Given the description of an element on the screen output the (x, y) to click on. 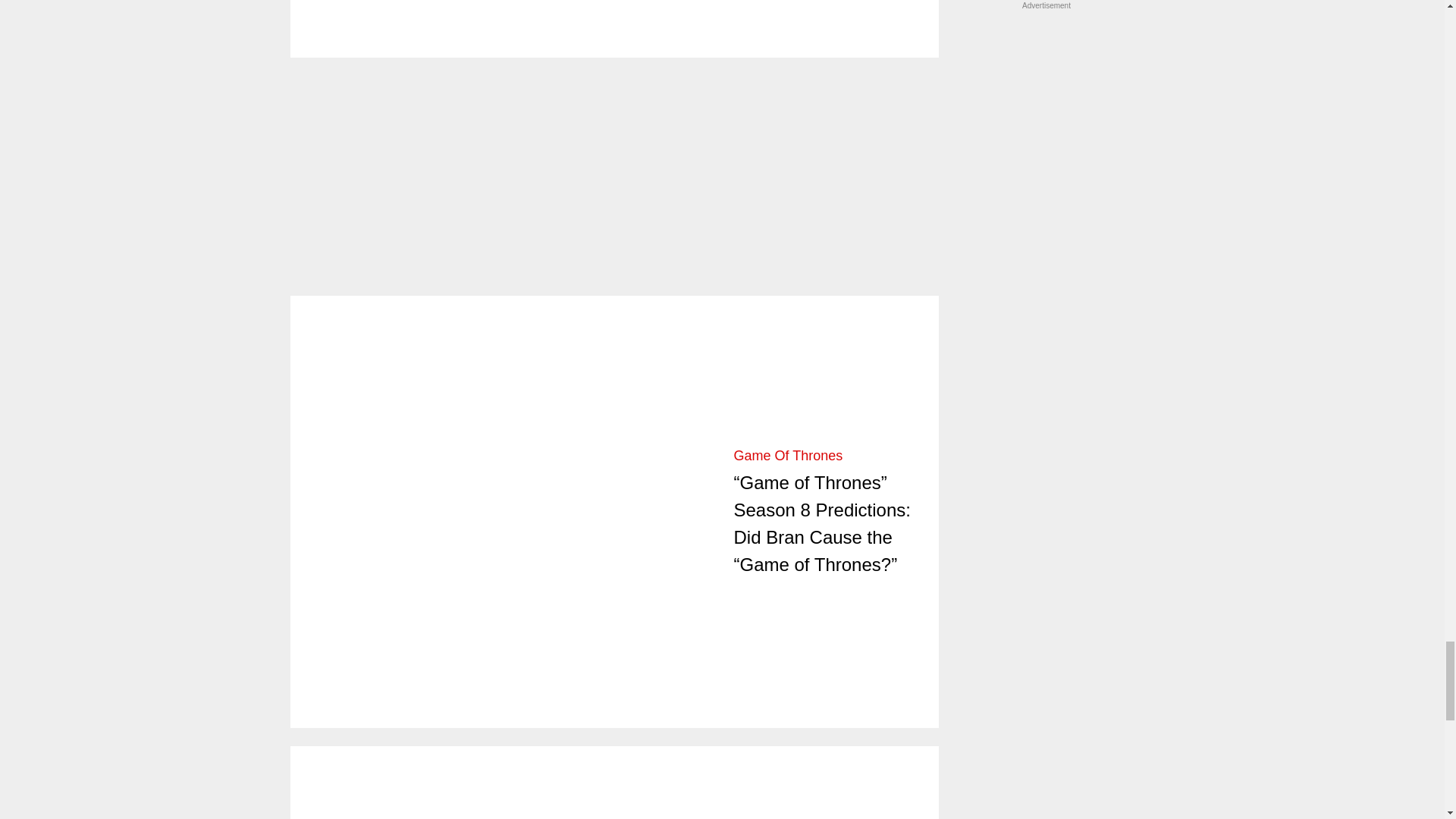
Category Name (788, 455)
